Given the description of an element on the screen output the (x, y) to click on. 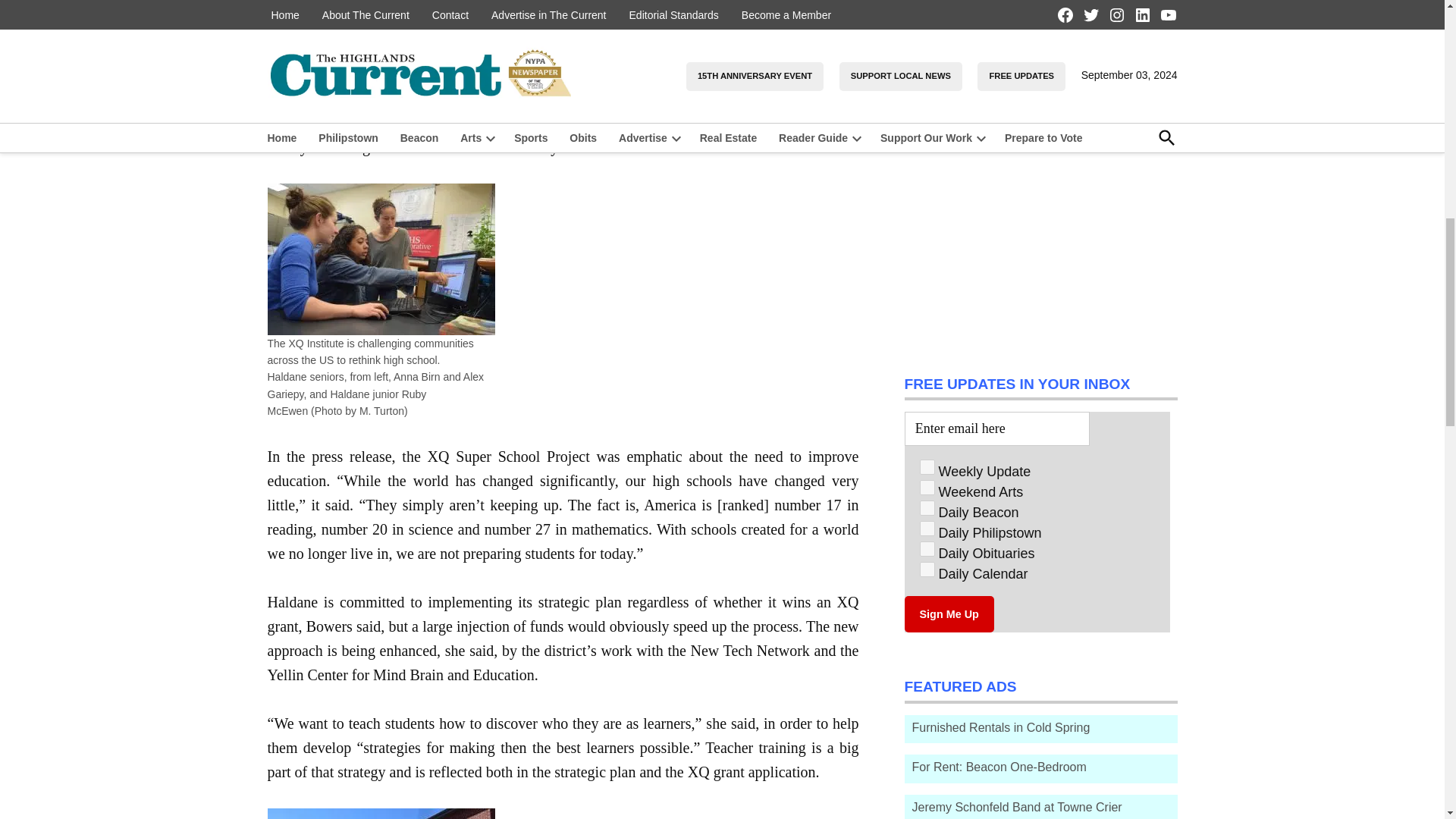
Battery Storage Faces Backlash (1040, 38)
Enter email here (996, 428)
Sign Me Up (948, 614)
Battery Storage Faces Backlash (1012, 63)
